Given the description of an element on the screen output the (x, y) to click on. 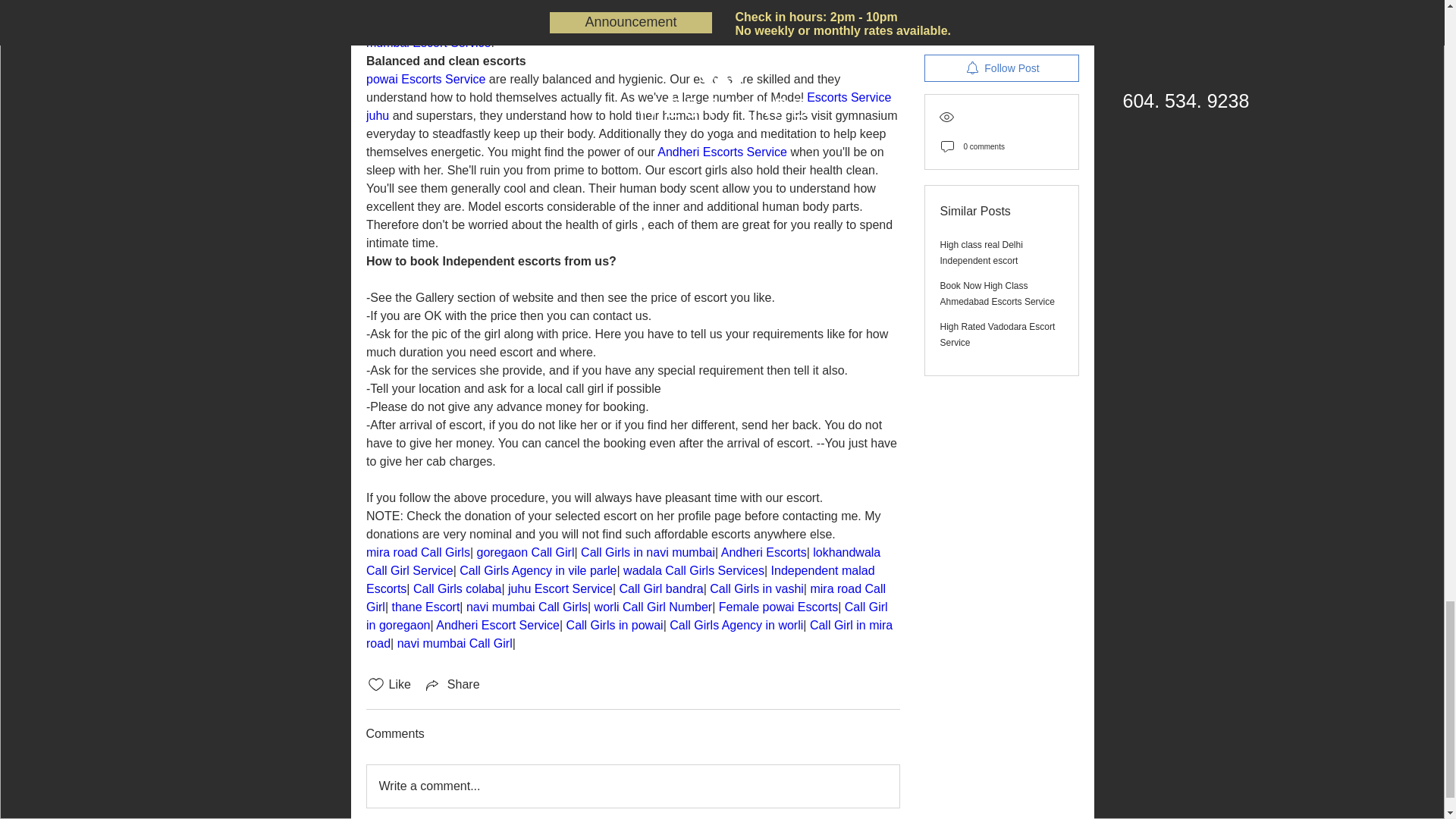
Andheri Escorts Service (722, 151)
mira road Call Girls (416, 552)
Call Girls in navi mumbai (647, 552)
goregaon Call Girl (524, 552)
powai Escorts Service (424, 78)
Escorts Service juhu (629, 106)
navi mumbai Escort Service (633, 33)
